Given the description of an element on the screen output the (x, y) to click on. 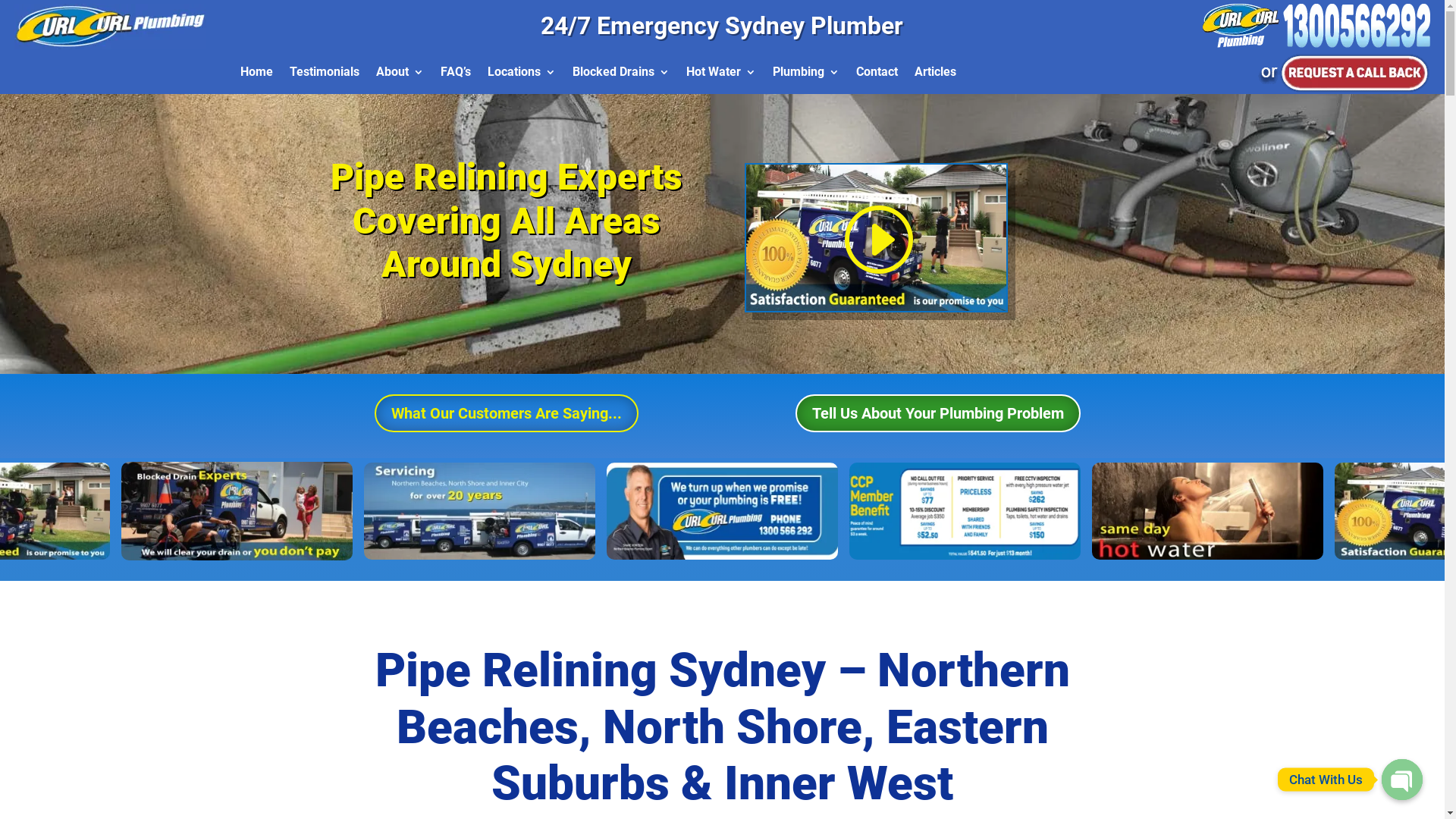
Curl Curl Plumbing Logo Element type: hover (110, 26)
Testimonials Element type: text (324, 74)
Curl Curl Plumbing - Request A Call Back Element type: hover (1343, 73)
Home Element type: text (256, 74)
Locations Element type: text (521, 74)
Articles Element type: text (935, 74)
Tell Us About Your Plumbing Problem Element type: text (937, 413)
About Element type: text (399, 74)
We turn up when we promise or your plumbing is free! Element type: hover (789, 510)
Hot Water Element type: text (721, 74)
What Our Customers Are Saying... Element type: text (506, 413)
Clear Blocked Drains Slider Element type: hover (339, 510)
Contact Element type: text (876, 74)
Blocked Drains Element type: text (620, 74)
Curl Curl Plumbing - Service History Element type: hover (563, 510)
Tap To Call 1300566292 Element type: hover (1316, 25)
Plumbing Element type: text (805, 74)
Same Day - Hot Water Element type: hover (1255, 510)
Curl Curl Plumbing  - Club Membership Element type: hover (1025, 510)
